Given the description of an element on the screen output the (x, y) to click on. 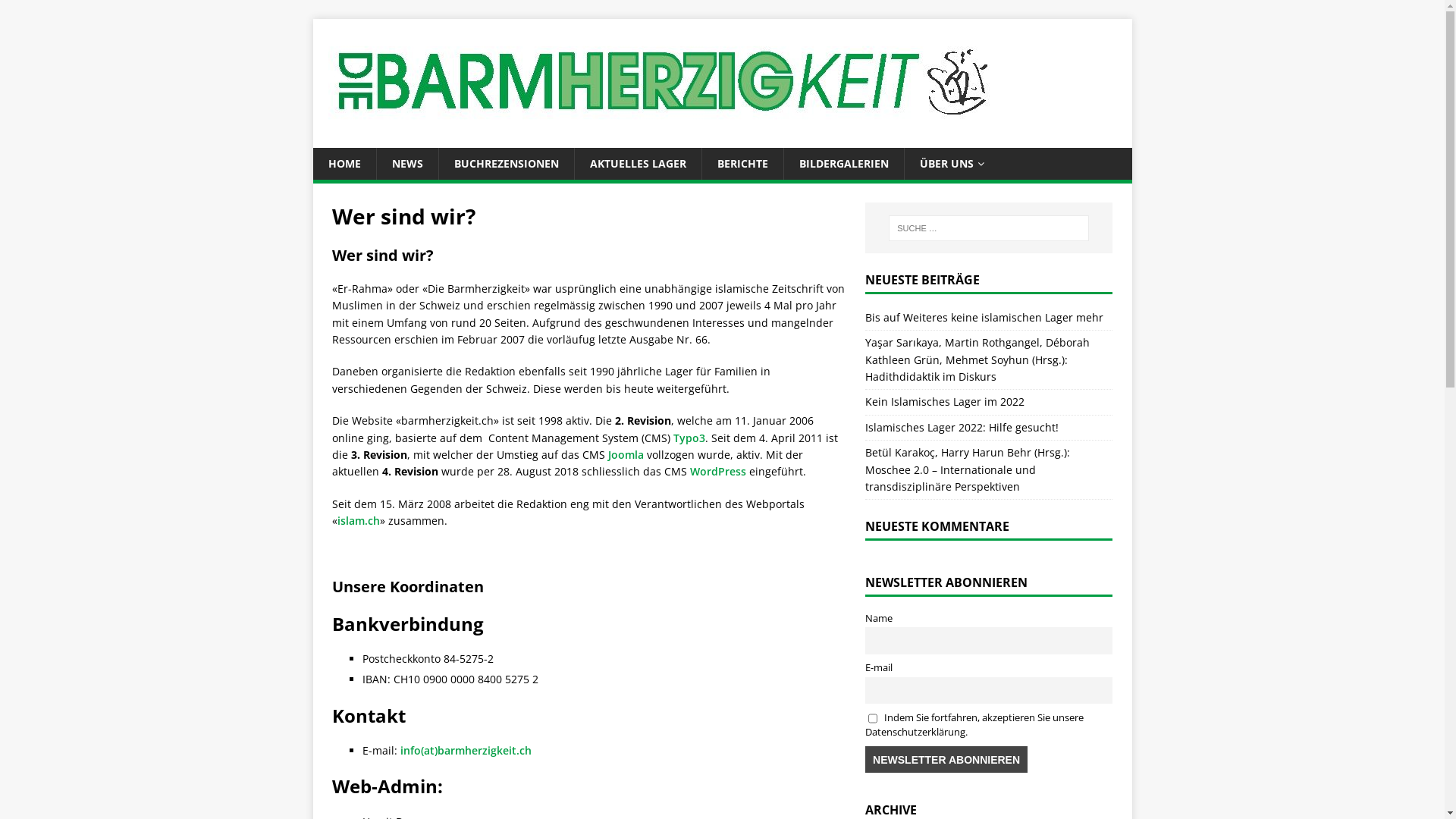
Suche Element type: text (56, 11)
NEWS Element type: text (407, 163)
WordPress Element type: text (718, 471)
Joomla Element type: text (625, 454)
Typo3 Element type: text (689, 437)
BUCHREZENSIONEN Element type: text (506, 163)
Kein Islamisches Lager im 2022 Element type: text (944, 401)
BILDERGALERIEN Element type: text (842, 163)
Bis auf Weiteres keine islamischen Lager mehr Element type: text (984, 317)
BERICHTE Element type: text (741, 163)
Newsletter abonnieren Element type: text (946, 759)
info(at)barmherzigkeit.ch Element type: text (465, 750)
Islamisches Lager 2022: Hilfe gesucht! Element type: text (961, 427)
AKTUELLES LAGER Element type: text (636, 163)
HOME Element type: text (343, 163)
islam.ch Element type: text (357, 520)
